Given the description of an element on the screen output the (x, y) to click on. 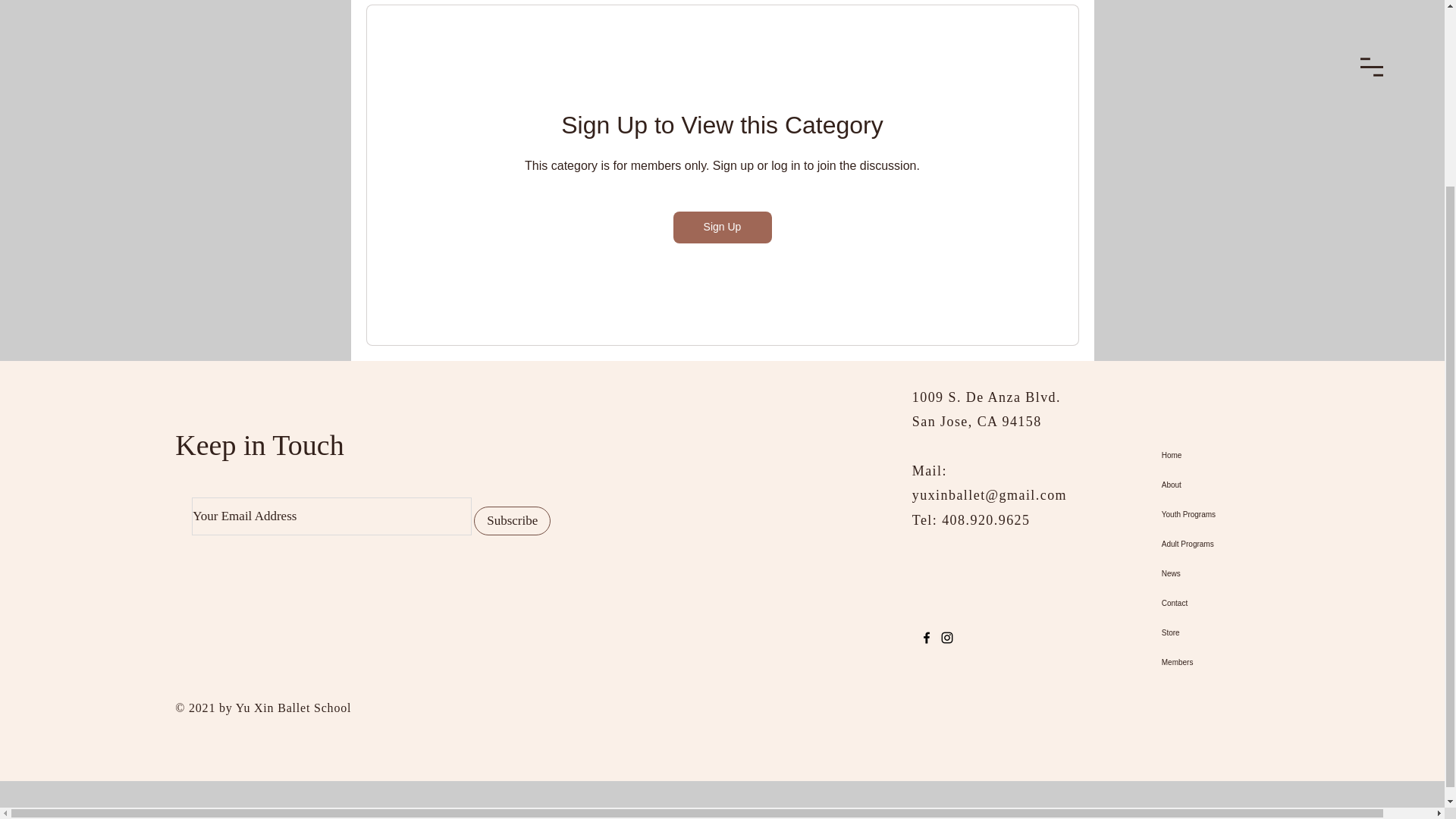
Contact (1240, 603)
Youth Programs (1240, 514)
Subscribe (512, 520)
News (1240, 573)
Sign Up (721, 227)
Store (1240, 632)
Adult Programs (1240, 543)
About (1240, 484)
Home (1240, 455)
